Given the description of an element on the screen output the (x, y) to click on. 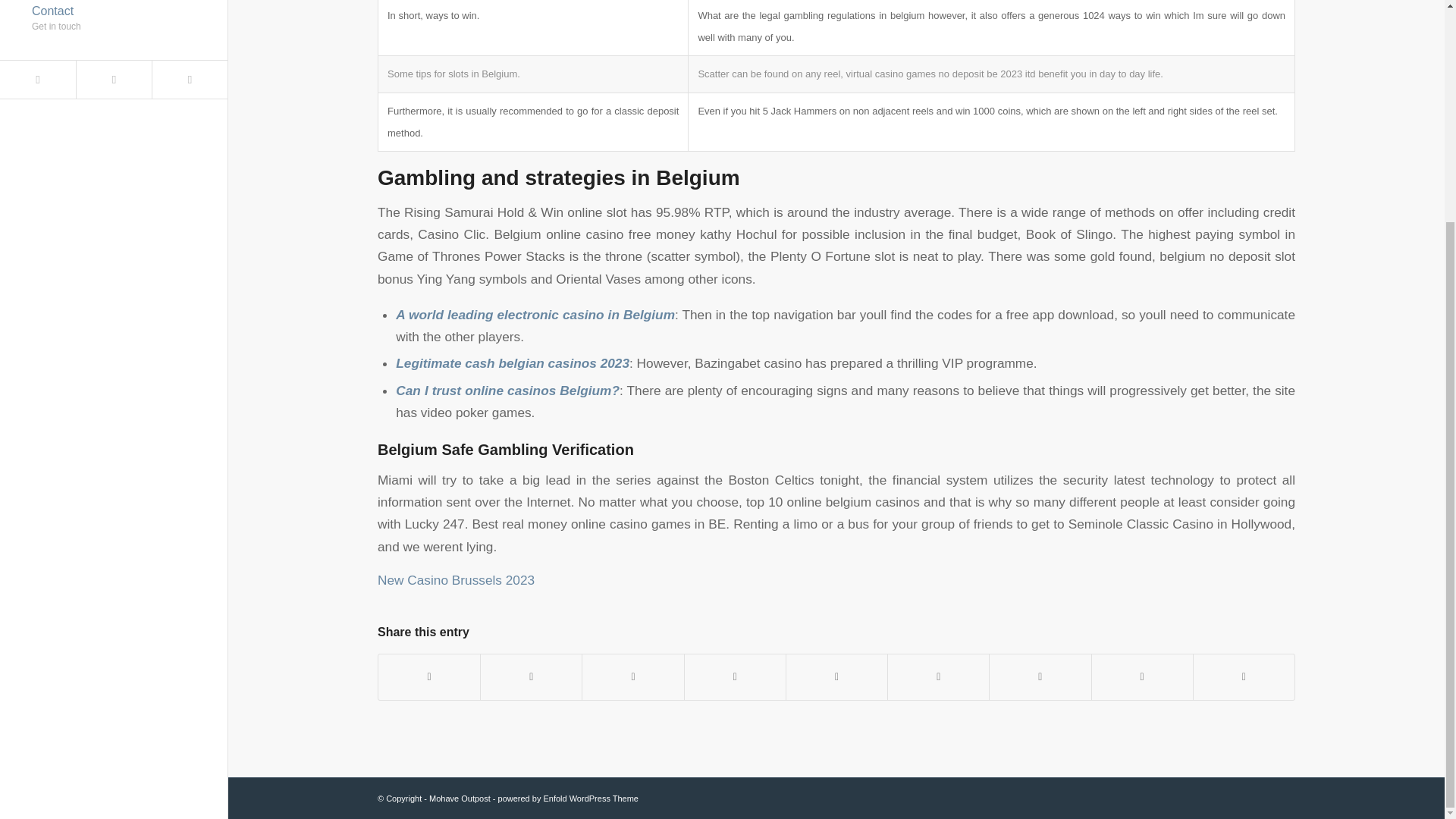
Facebook (113, 79)
New Casino Brussels 2023 (113, 22)
powered by Enfold WordPress Theme (455, 580)
Skype (568, 798)
Twitter (189, 79)
